Given the description of an element on the screen output the (x, y) to click on. 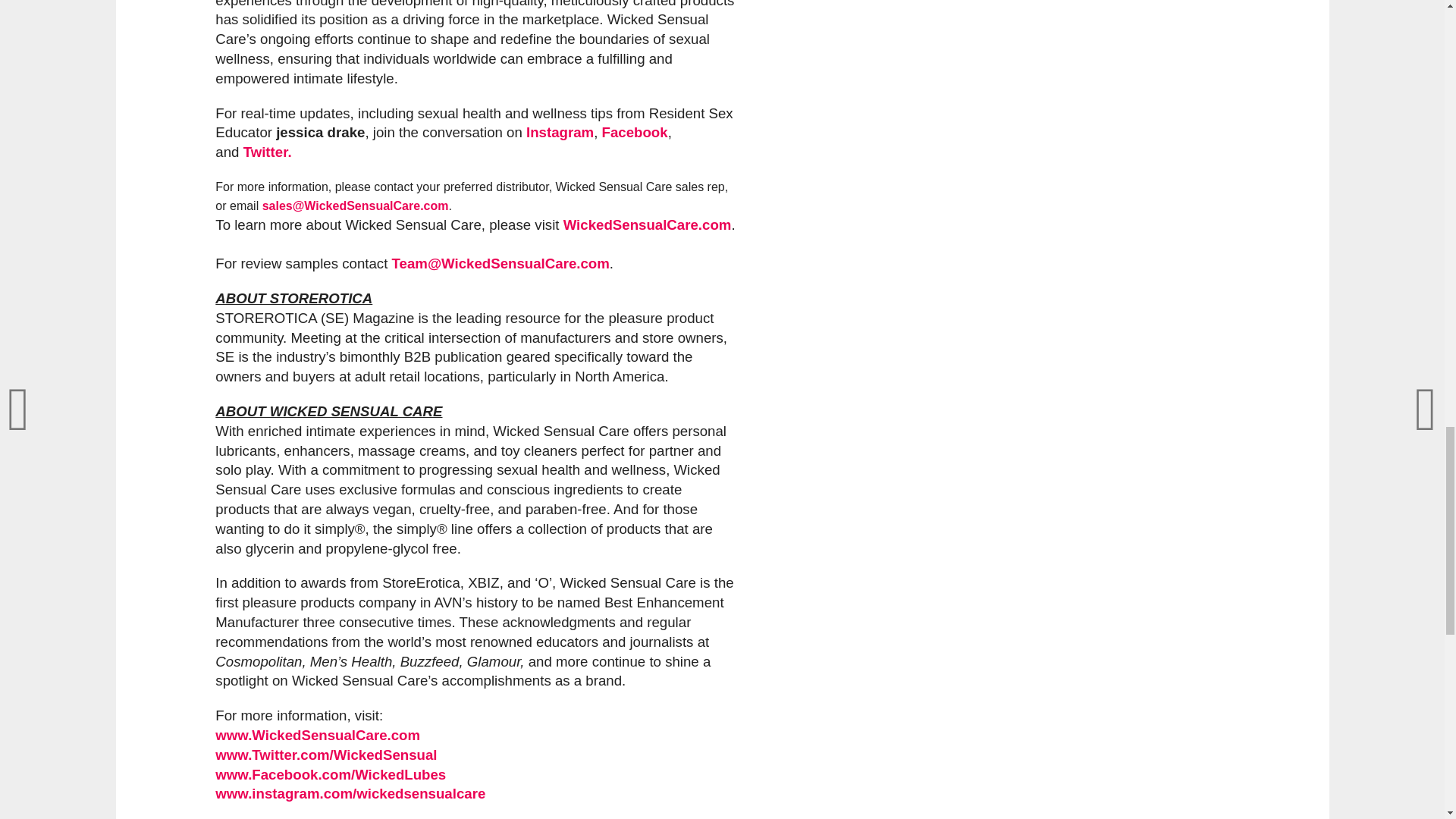
Instagram (559, 132)
Facebook (635, 132)
Twitter (265, 151)
